Given the description of an element on the screen output the (x, y) to click on. 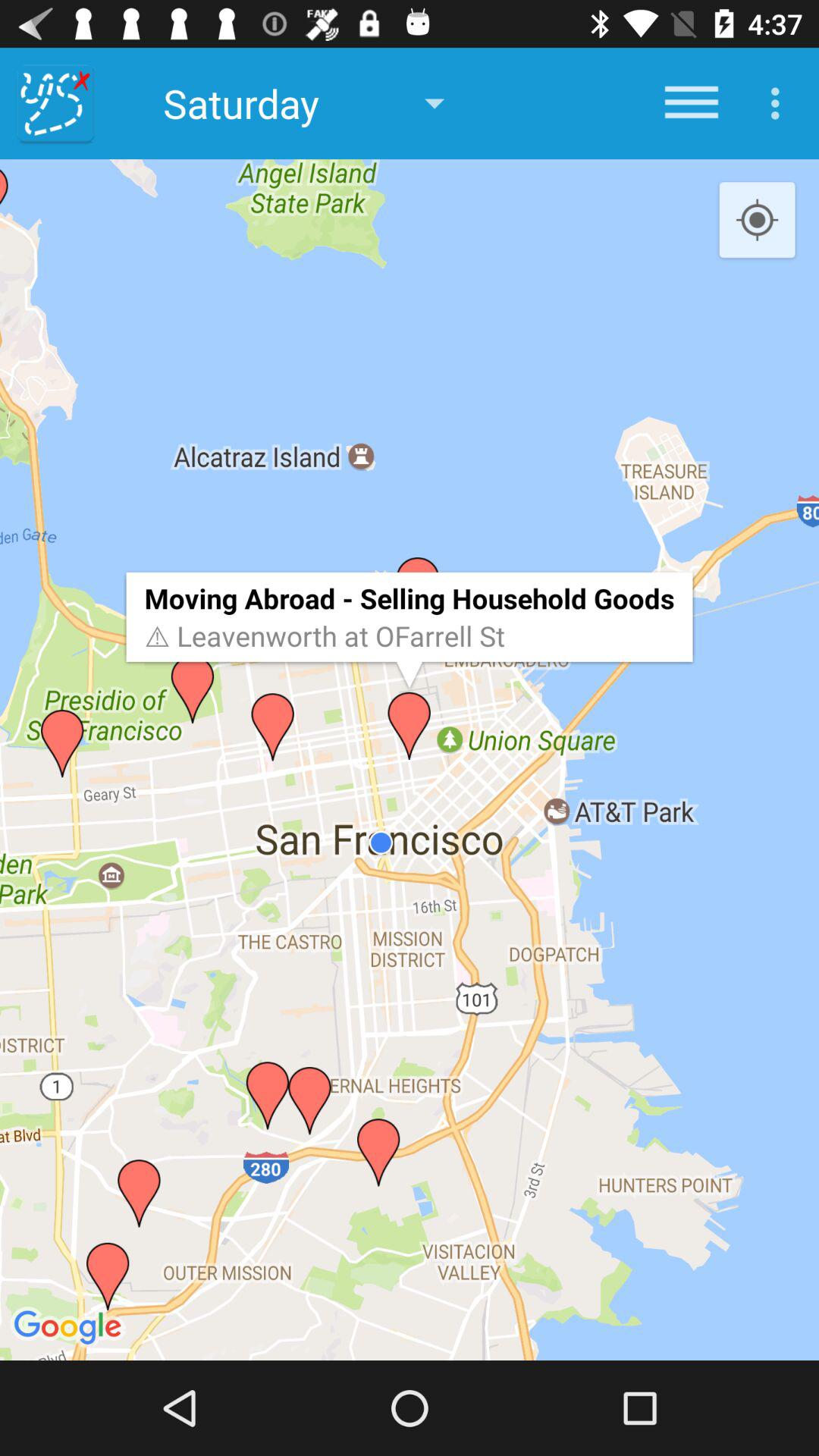
rout map (55, 103)
